Given the description of an element on the screen output the (x, y) to click on. 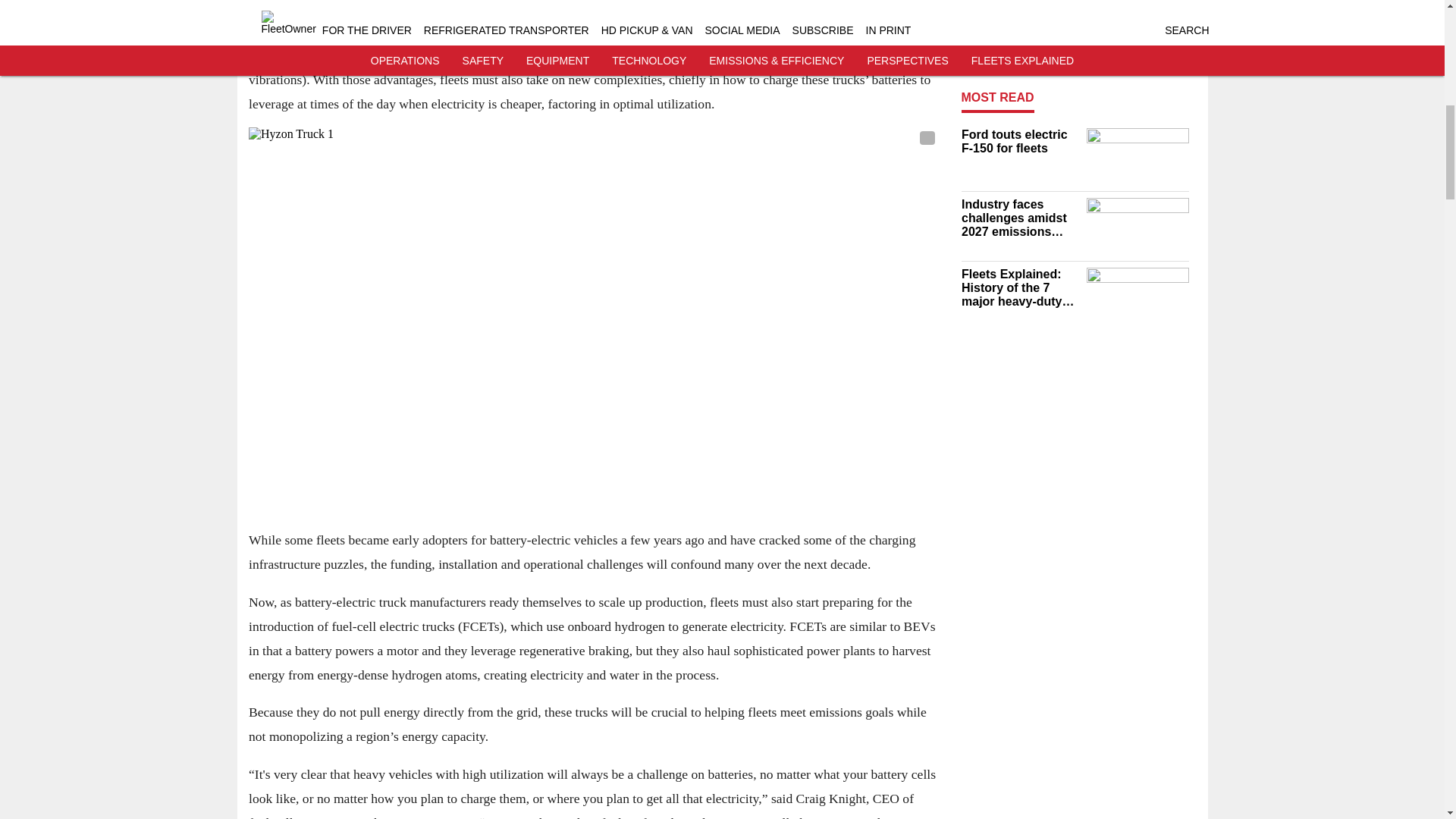
Hyzon Motors (431, 816)
